Given the description of an element on the screen output the (x, y) to click on. 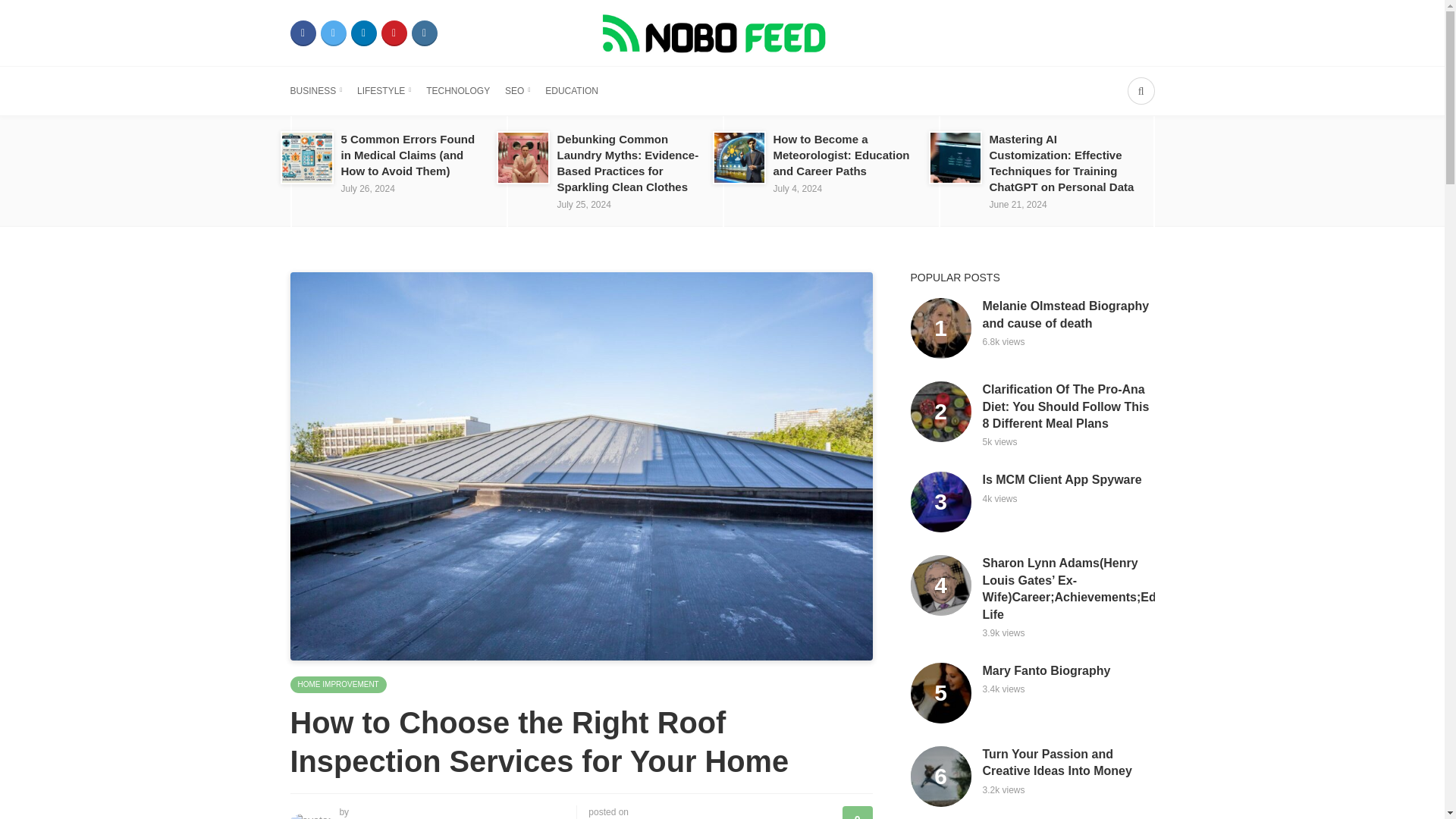
July 26, 2024 (367, 188)
July 25, 2024 (583, 204)
LIFESTYLE (383, 90)
Linkedin (362, 32)
EDUCATION (571, 90)
twitter (333, 32)
View all posts in Home Improvement (337, 684)
Nobofeed (721, 32)
June 21, 2024 (1017, 204)
